Given the description of an element on the screen output the (x, y) to click on. 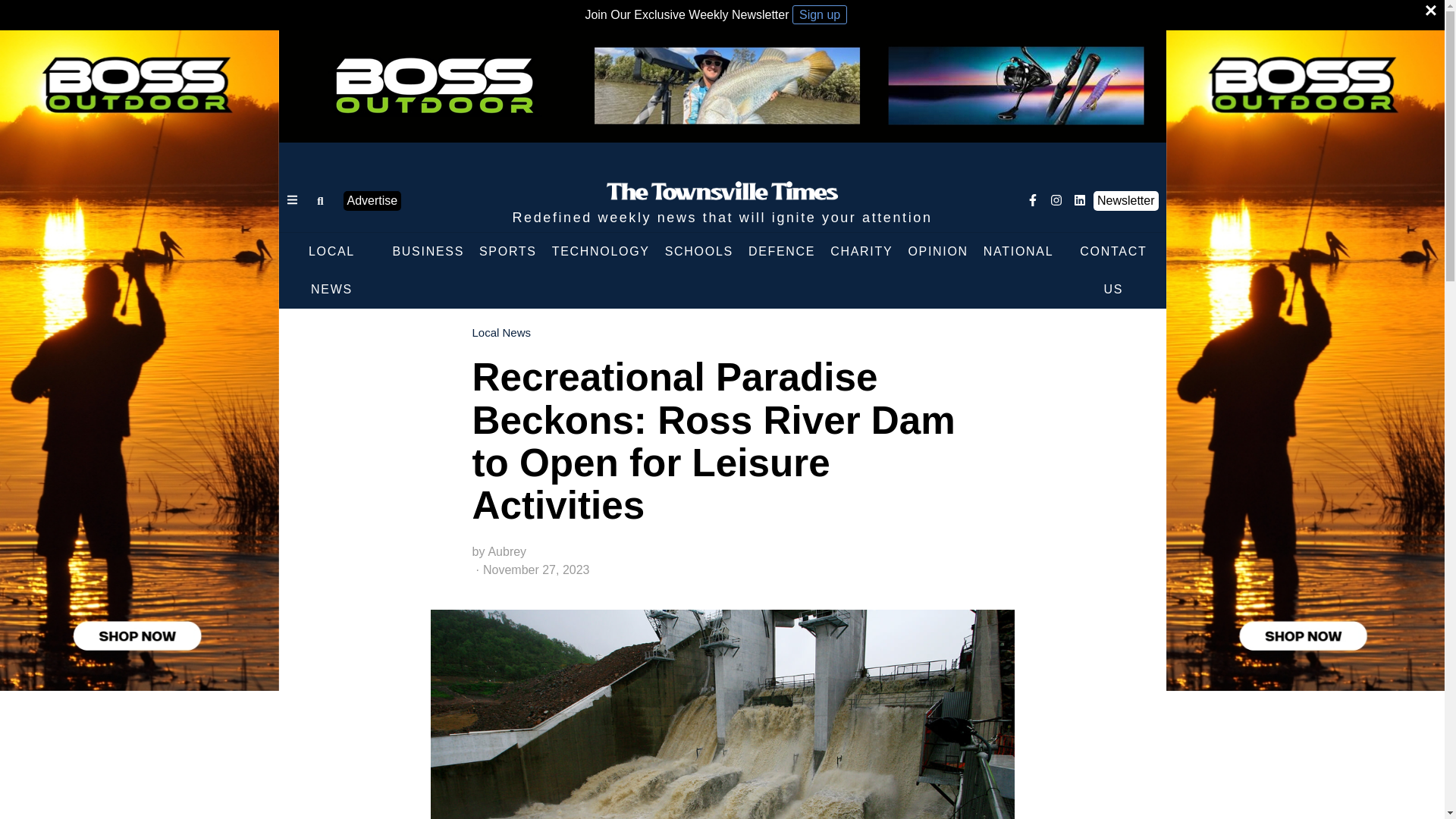
Sign up (819, 14)
DEFENCE (781, 251)
CONTACT US (1113, 270)
TECHNOLOGY (601, 251)
Newsletter (1125, 200)
BUSINESS (427, 251)
Advertise (371, 200)
OPINION (937, 251)
SPORTS (507, 251)
CHARITY (860, 251)
